Given the description of an element on the screen output the (x, y) to click on. 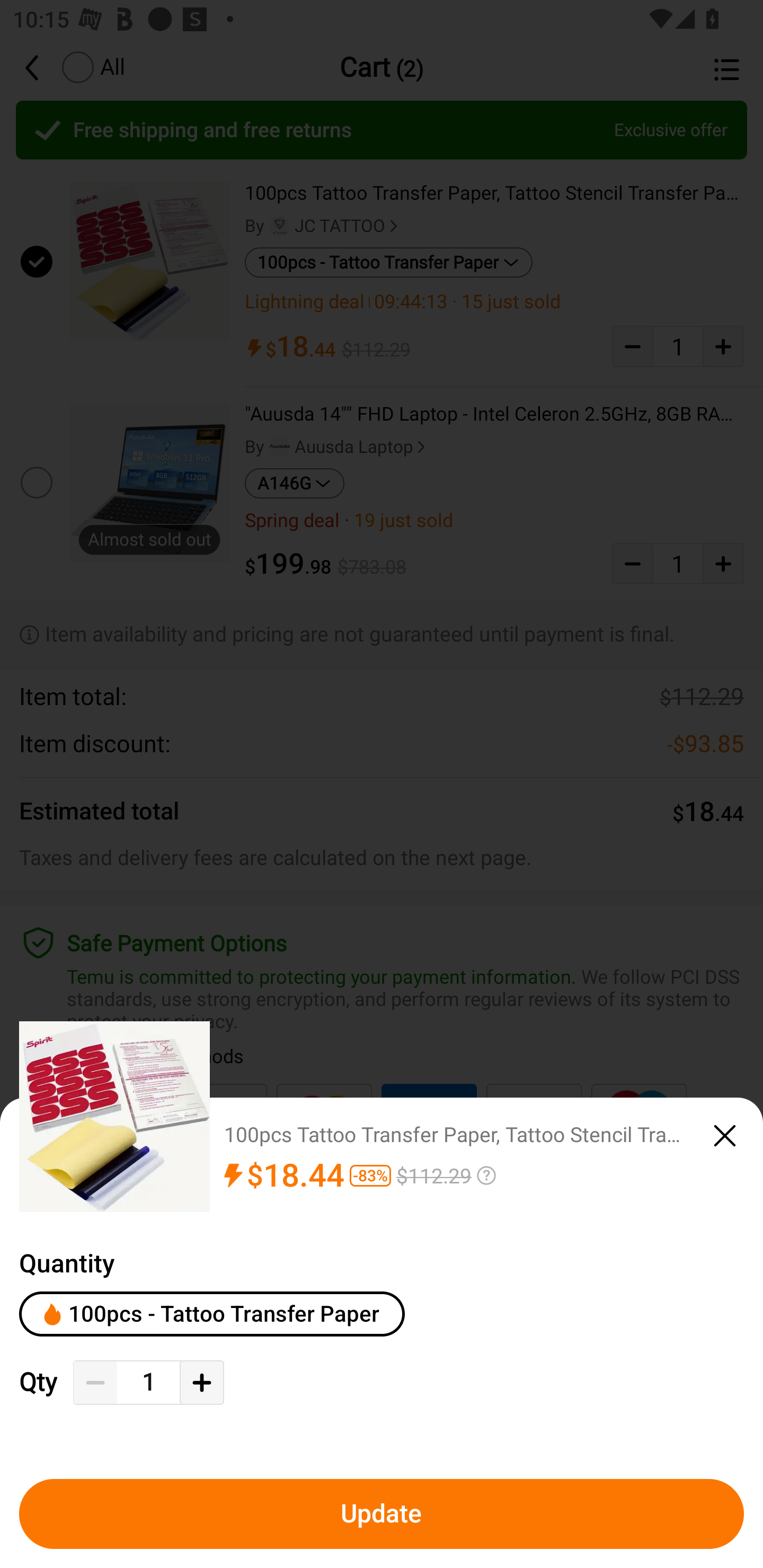
close (724, 1135)
 100pcs - Tattoo Transfer Paper (212, 1313)
Decrease Quantity Button (95, 1382)
Add Quantity Button (201, 1382)
1 (148, 1382)
Update (381, 1513)
